Given the description of an element on the screen output the (x, y) to click on. 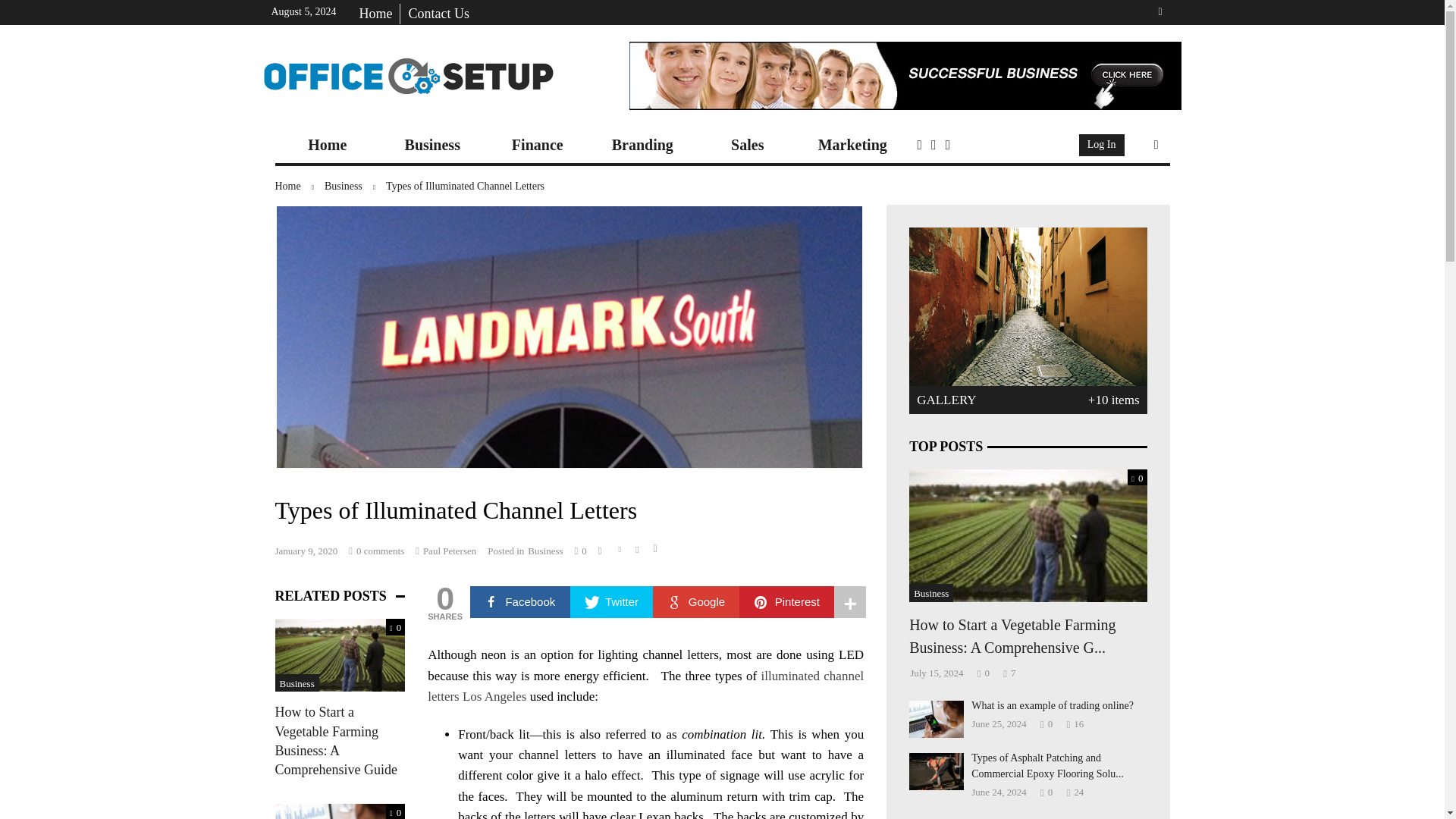
Log In (1101, 145)
login (1101, 145)
Home (327, 144)
Twitter (611, 602)
Finance (537, 144)
Business (432, 144)
Google (695, 602)
Types of Illuminated Channel Letters (464, 185)
Facebook (520, 602)
